Given the description of an element on the screen output the (x, y) to click on. 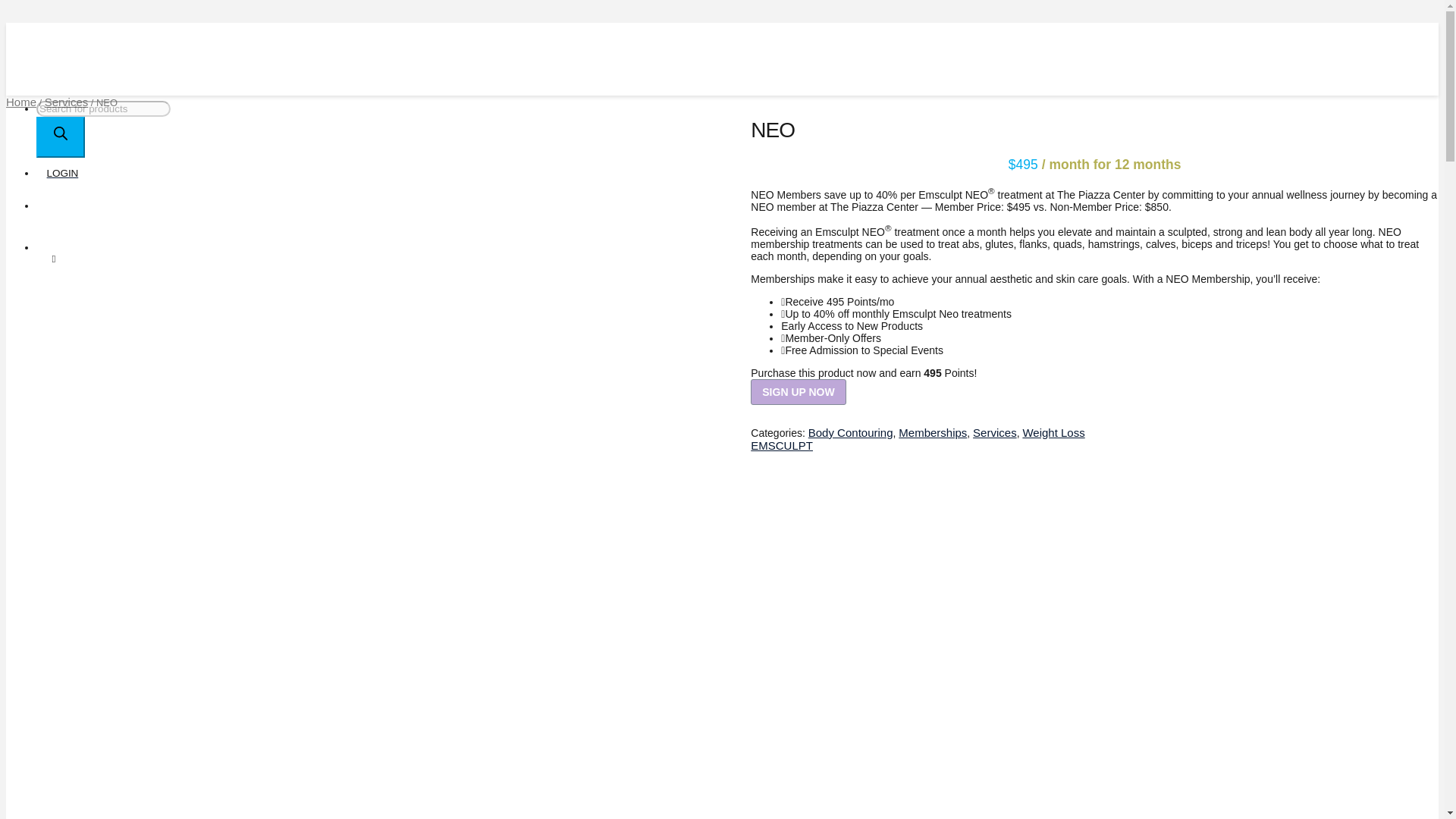
EMSCULPT (781, 445)
Body Contouring (850, 431)
Home (20, 101)
View brand (781, 445)
Weight Loss (1053, 431)
Memberships (932, 431)
Services (994, 431)
Services (66, 101)
SIGN UP NOW (798, 391)
LOGIN (320, 173)
